Given the description of an element on the screen output the (x, y) to click on. 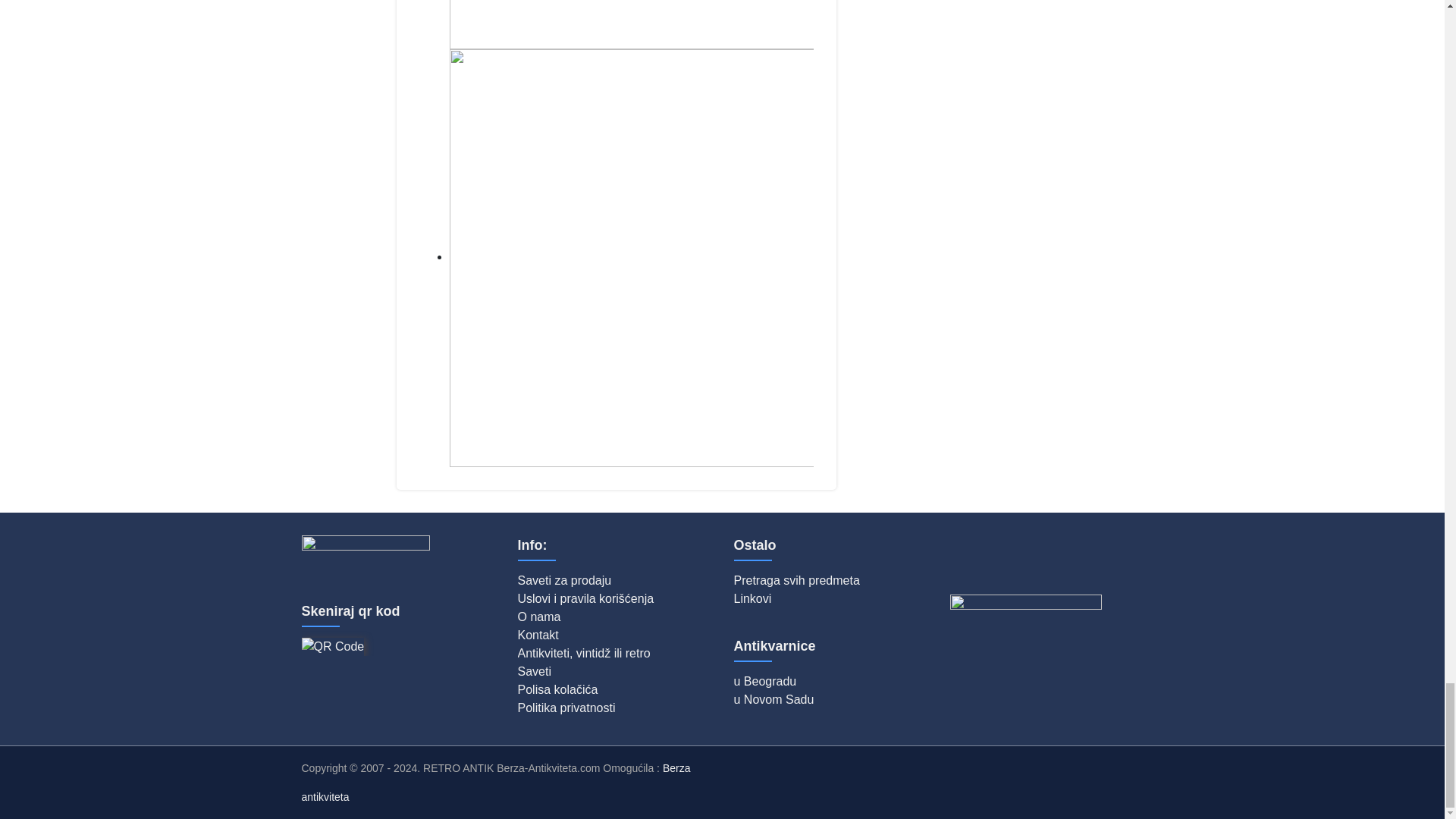
Saveti (533, 671)
Saveti za prodaju (563, 580)
O nama (538, 616)
Kontakt (536, 634)
